Given the description of an element on the screen output the (x, y) to click on. 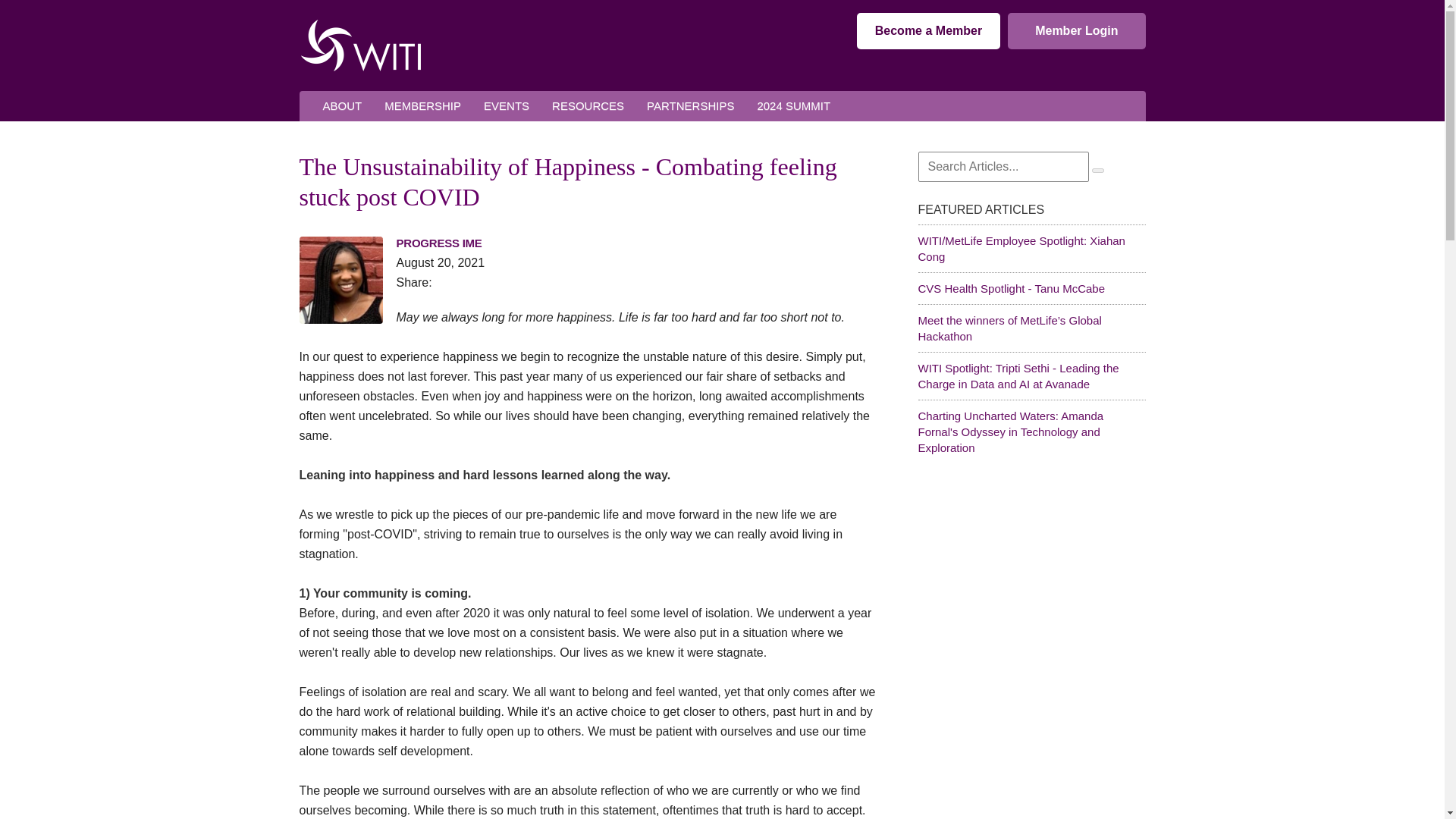
CVS Health Spotlight - Tanu McCabe (1011, 288)
PARTNERSHIPS (689, 106)
Member Login (1075, 31)
RESOURCES (587, 106)
EVENTS (505, 106)
PROGRESS IME (438, 242)
FEATURED ARTICLES (1030, 208)
MEMBERSHIP (421, 106)
ABOUT (341, 106)
Become a Member (928, 31)
